Given the description of an element on the screen output the (x, y) to click on. 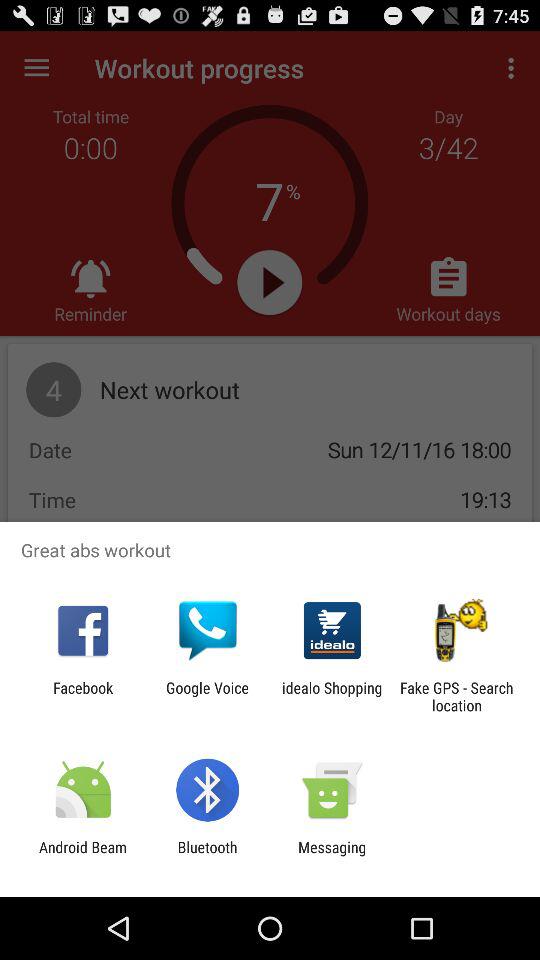
choose fake gps search (456, 696)
